Given the description of an element on the screen output the (x, y) to click on. 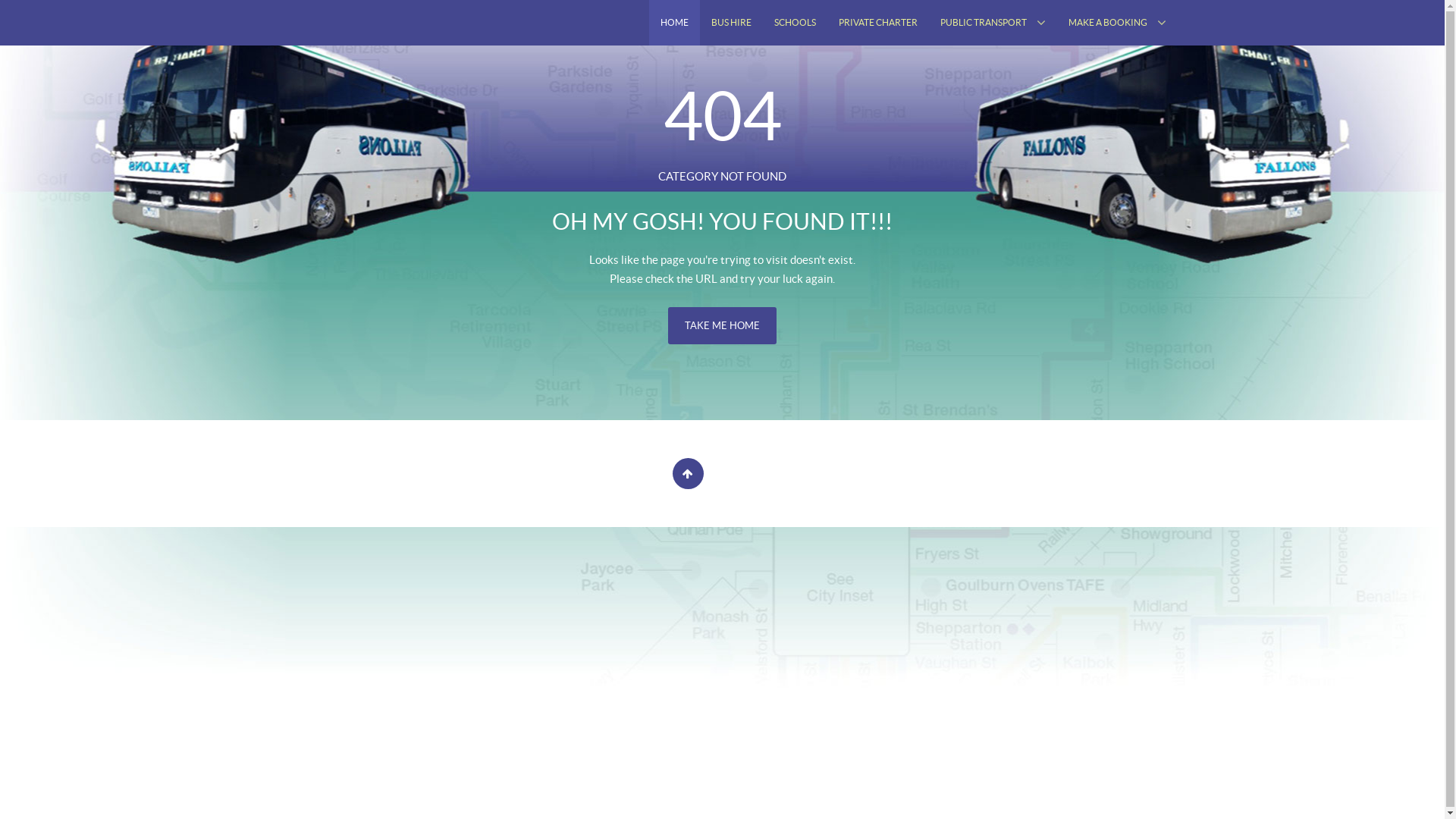
SCHOOLS Element type: text (794, 22)
HOME Element type: text (674, 22)
TAKE ME HOME Element type: text (722, 325)
MAKE A BOOKING Element type: text (1117, 22)
PRIVATE CHARTER Element type: text (877, 22)
BUS HIRE Element type: text (730, 22)
PUBLIC TRANSPORT Element type: text (992, 22)
